Given the description of an element on the screen output the (x, y) to click on. 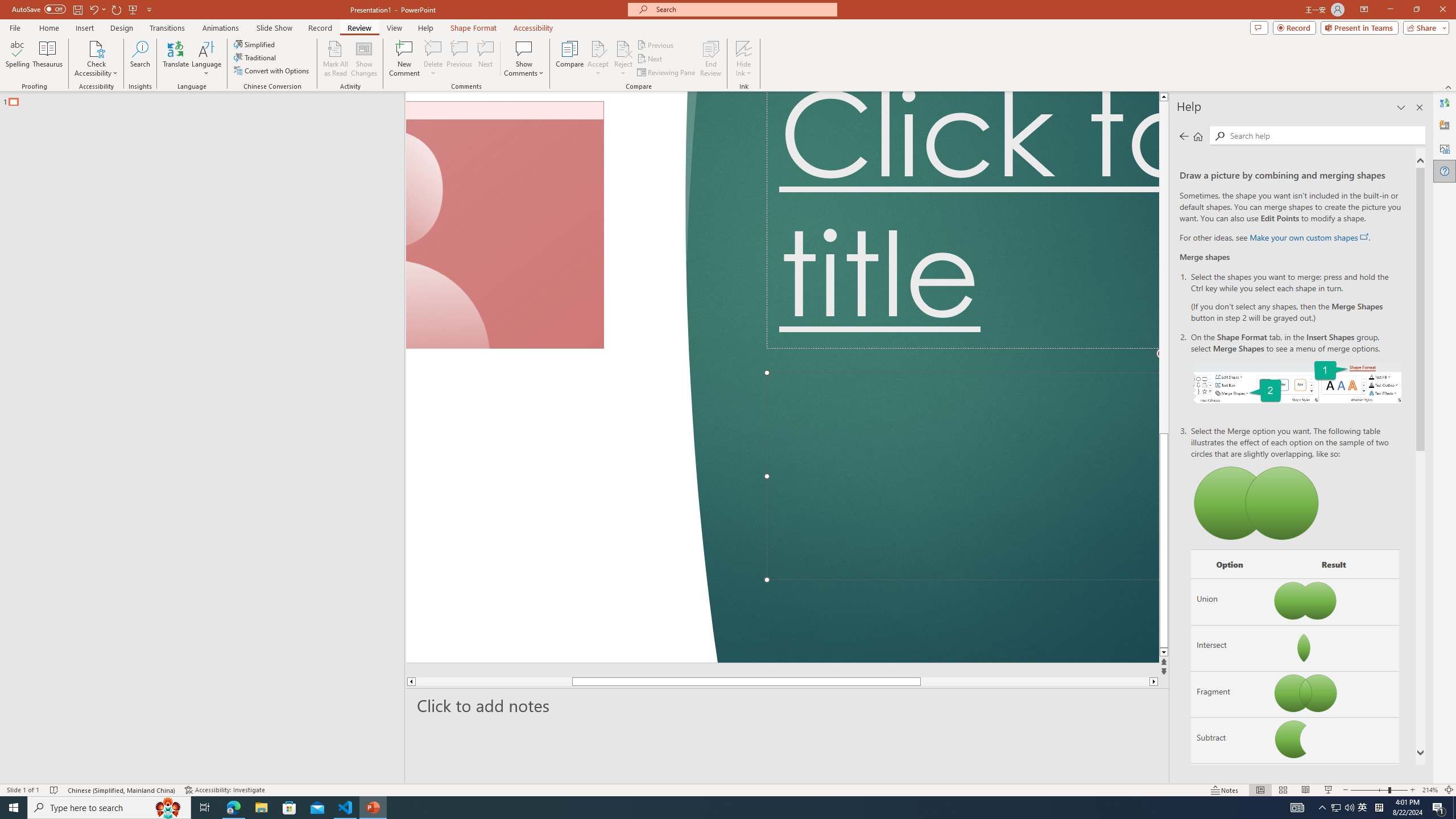
Simplified (254, 44)
Camera 7, No camera detected. (505, 224)
Outline (207, 99)
Decorative Locked (561, 376)
New Comment (403, 58)
Previous page (1183, 136)
